Given the description of an element on the screen output the (x, y) to click on. 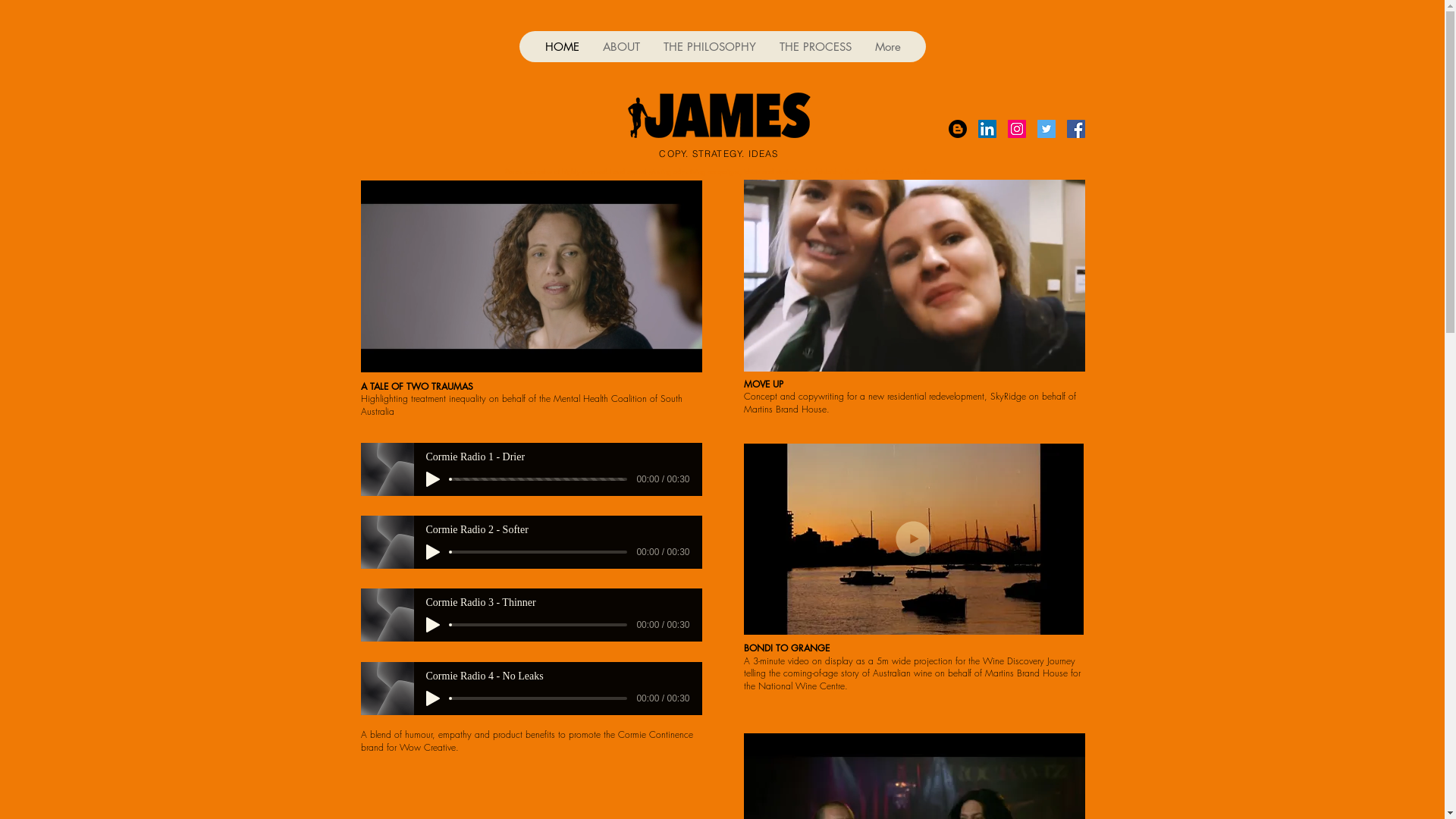
THE PHILOSOPHY Element type: text (708, 46)
ABOUT Element type: text (619, 46)
James_REV_v2[1] copy.png Element type: hover (718, 115)
HOME Element type: text (560, 46)
THE PROCESS Element type: text (814, 46)
